Given the description of an element on the screen output the (x, y) to click on. 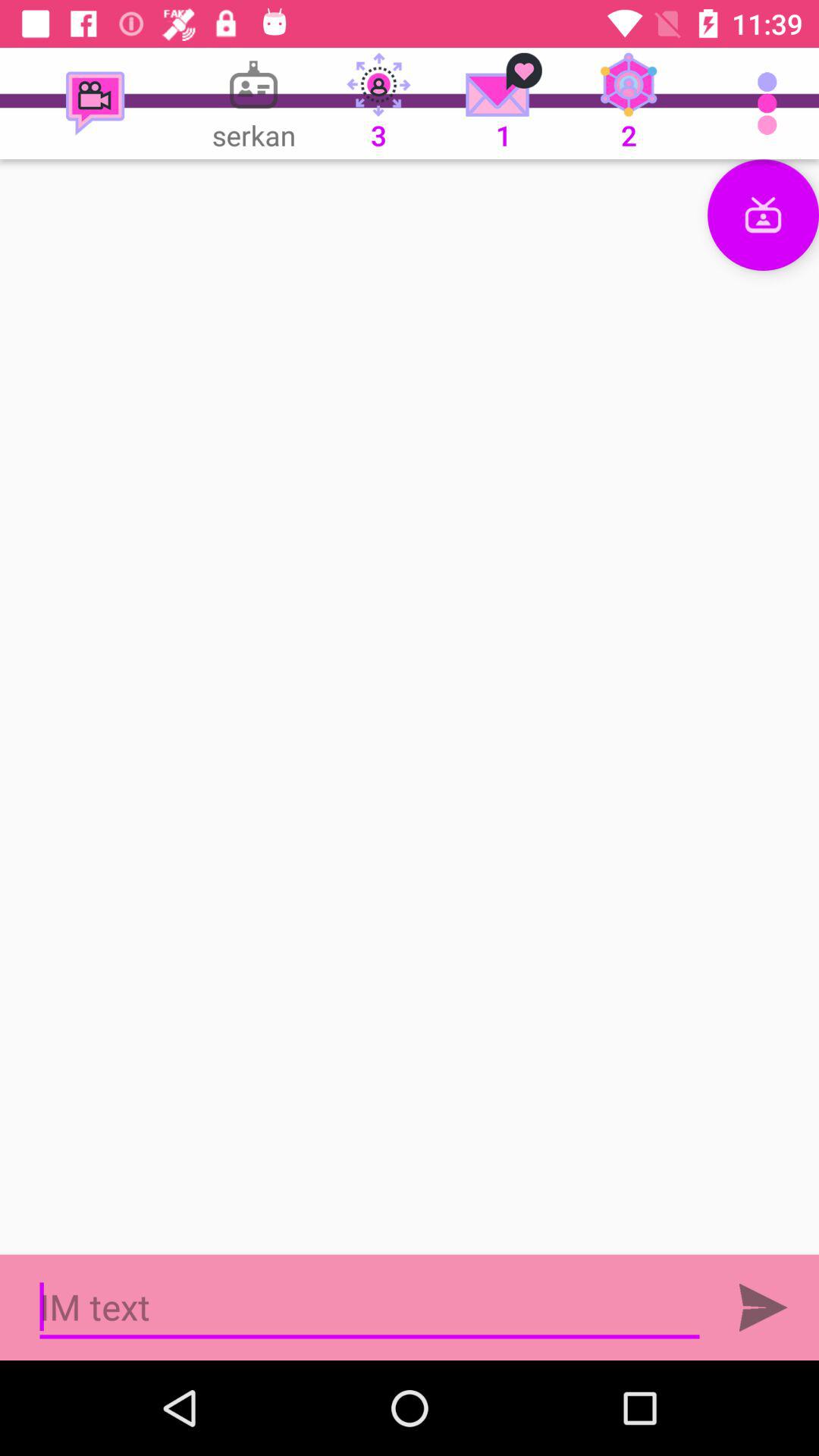
go to text (369, 1307)
